Given the description of an element on the screen output the (x, y) to click on. 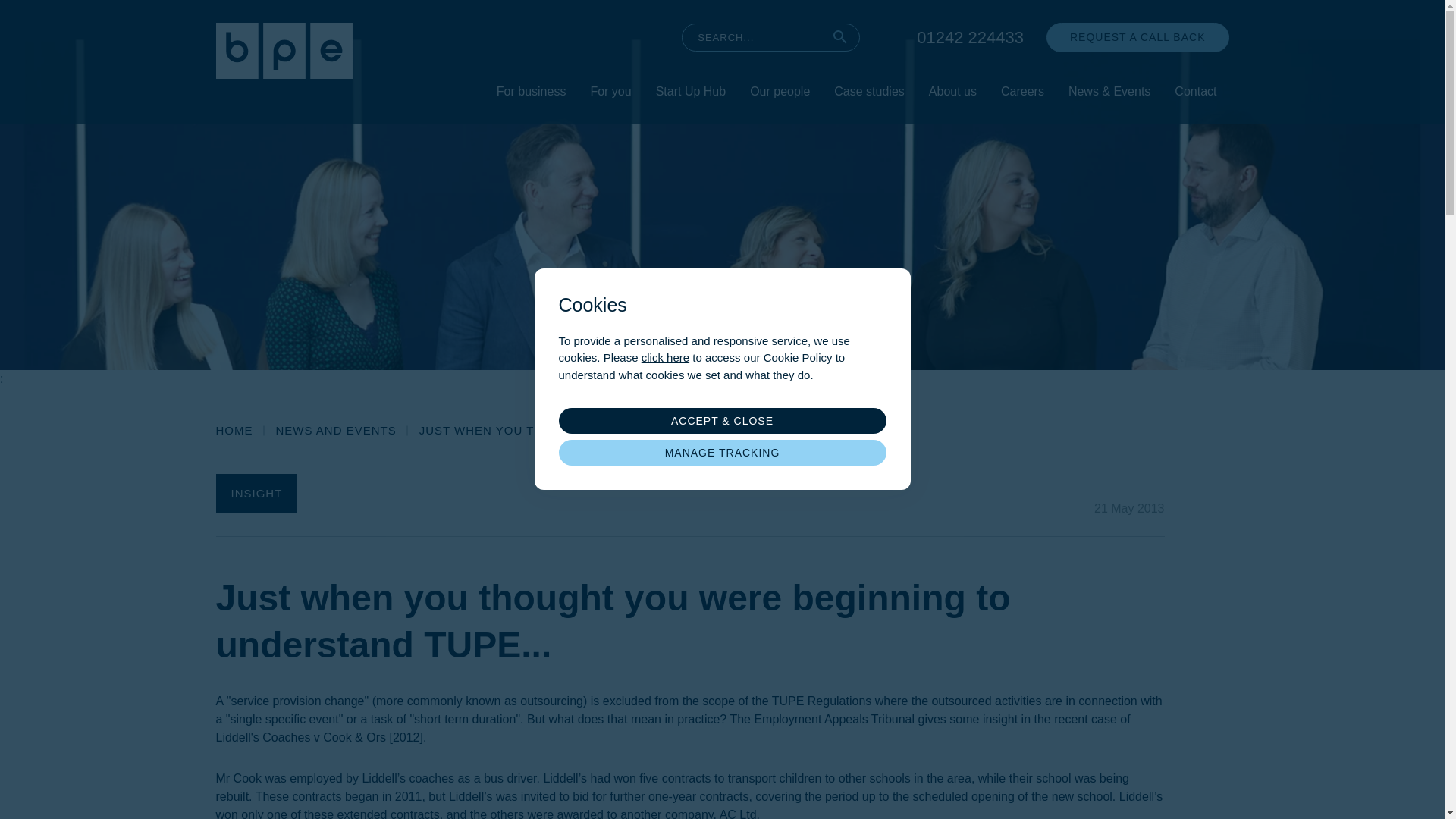
01242 224433 (970, 37)
REQUEST A CALL BACK (1137, 37)
